Given the description of an element on the screen output the (x, y) to click on. 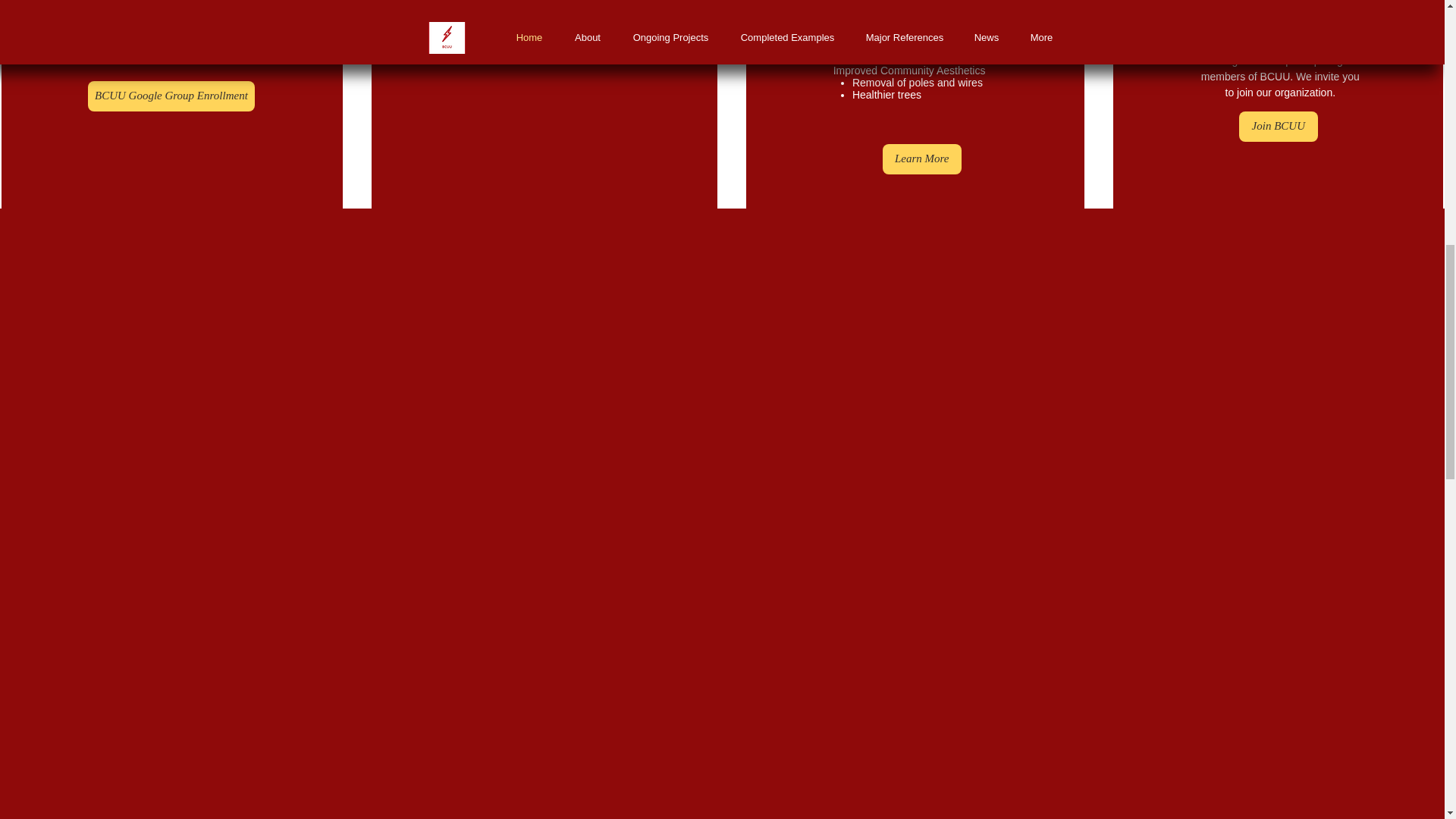
Learn More (921, 159)
BCUU Google Group (166, 31)
BCUU Google Group Enrollment (170, 96)
Read More (547, 39)
Join BCUU (1278, 126)
